Given the description of an element on the screen output the (x, y) to click on. 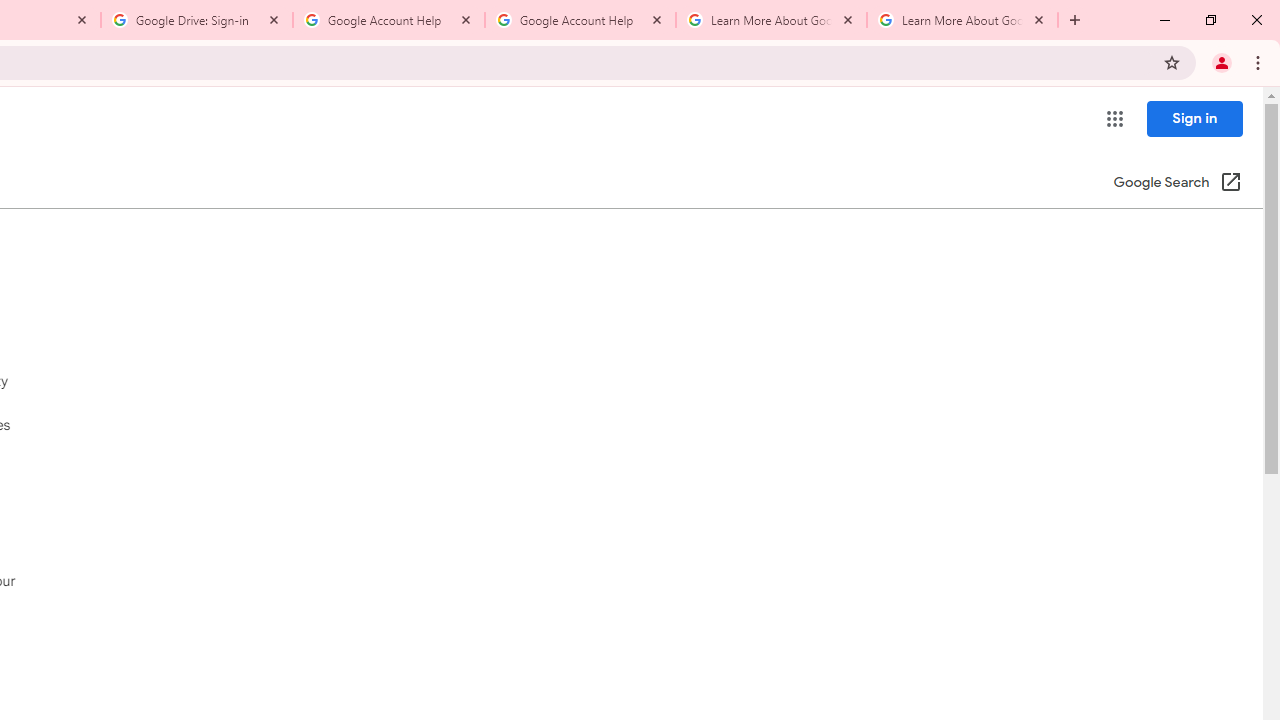
Google Account Help (580, 20)
Google Drive: Sign-in (197, 20)
Google Account Help (389, 20)
Google Search (Open in a new window) (1177, 183)
